Given the description of an element on the screen output the (x, y) to click on. 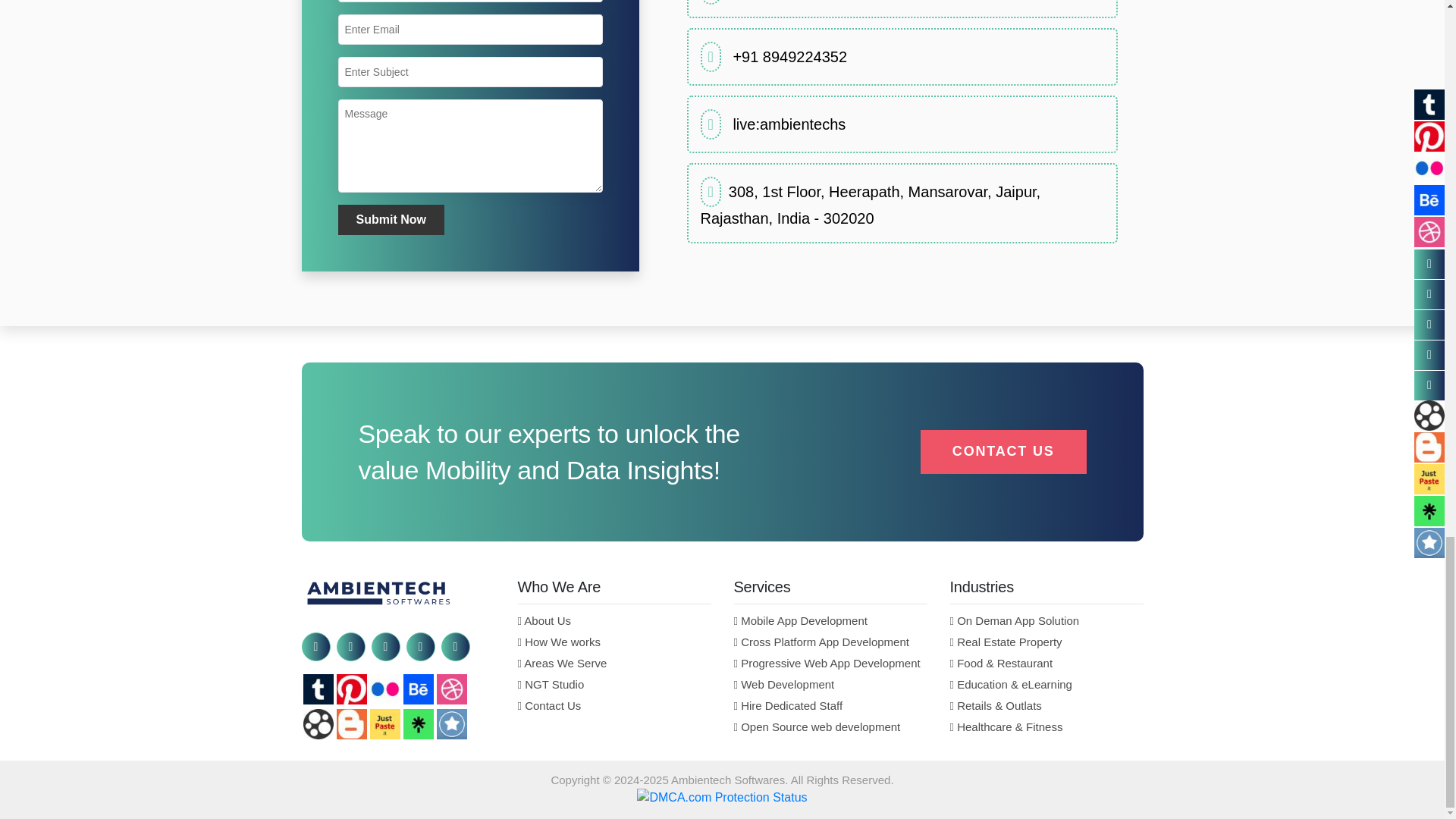
Behance Profile (418, 689)
Dribble Profile (451, 689)
DMCA.com Protection Status (721, 796)
Blogger Profile (351, 724)
Twitter Profile (350, 646)
Fliker Profile (384, 689)
Facebook Profile (315, 646)
Pintrest Profile (351, 689)
Pearltree Profile (451, 724)
Youtube Profile (455, 646)
Justpaste Profile (384, 724)
Linktree Profile (418, 724)
Tumbler Profile (317, 689)
Beacons Profile (317, 724)
1 (789, 56)
